Given the description of an element on the screen output the (x, y) to click on. 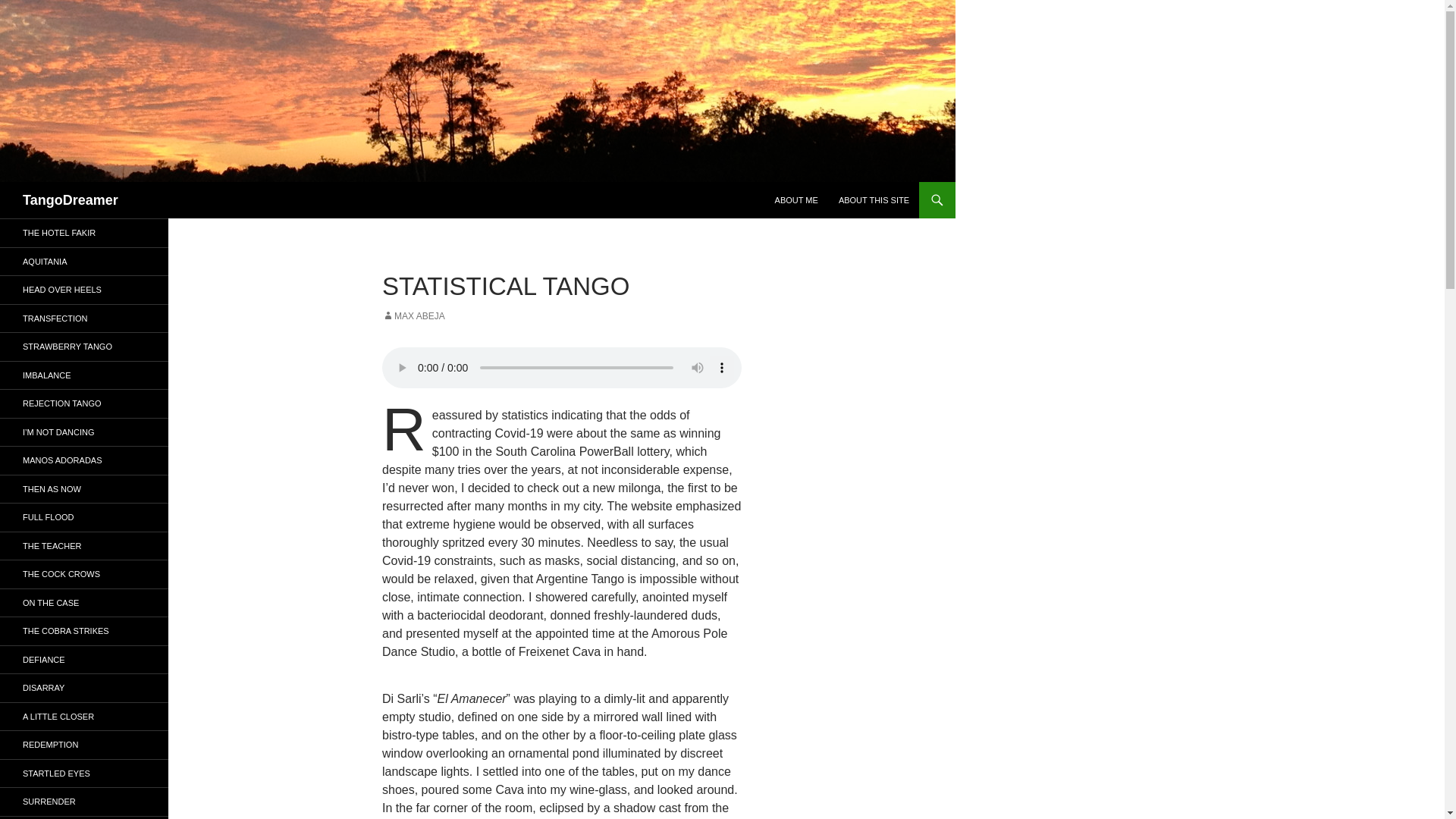
THE SECOND GRAVE (84, 817)
TRANSFECTION (84, 318)
THE COCK CROWS (84, 574)
DEFIANCE (84, 660)
STARTLED EYES (84, 773)
FULL FLOOD (84, 517)
THE TEACHER (84, 546)
AQUITANIA (84, 261)
ABOUT THIS SITE (873, 199)
THE COBRA STRIKES (84, 631)
HEAD OVER HEELS (84, 289)
ON THE CASE (84, 602)
TangoDreamer (70, 199)
